Given the description of an element on the screen output the (x, y) to click on. 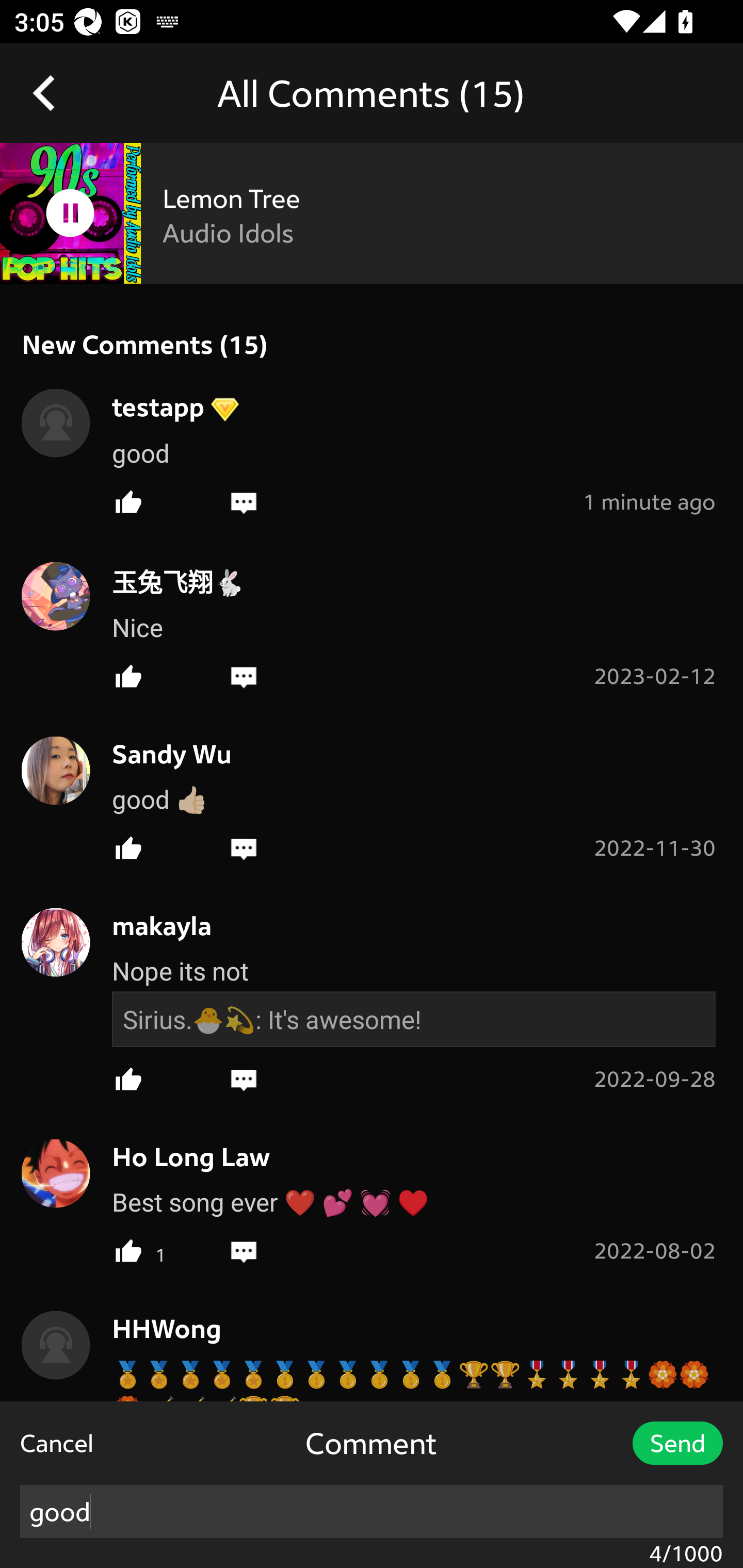
testapp good 1 minute ago (371, 448)
testapp (147, 405)
玉兔飞翔🐇 Nice 2023-02-12 (371, 621)
玉兔飞翔🐇 (167, 580)
Sandy Wu good 👍🏻  2022-11-30 (371, 794)
Sandy Wu (160, 753)
makayla (150, 924)
Ho Long Law Best song ever ❤ 💕 💓 ♥  1 2022-08-02 (371, 1197)
Ho Long Law (180, 1156)
HHWong 🏅🏅🏅🏅🏅🥇🥇🥇🥇🥇🥇🏆🏆🎖🎖🎖🎖🏵🏵🏵🎺🎺🎺🏆🏆 2022-07-13 (371, 1368)
HHWong (156, 1327)
Cancel Comment Send good 4/1000 (371, 1484)
Send (677, 1443)
Cancel (56, 1442)
good (371, 1511)
